Given the description of an element on the screen output the (x, y) to click on. 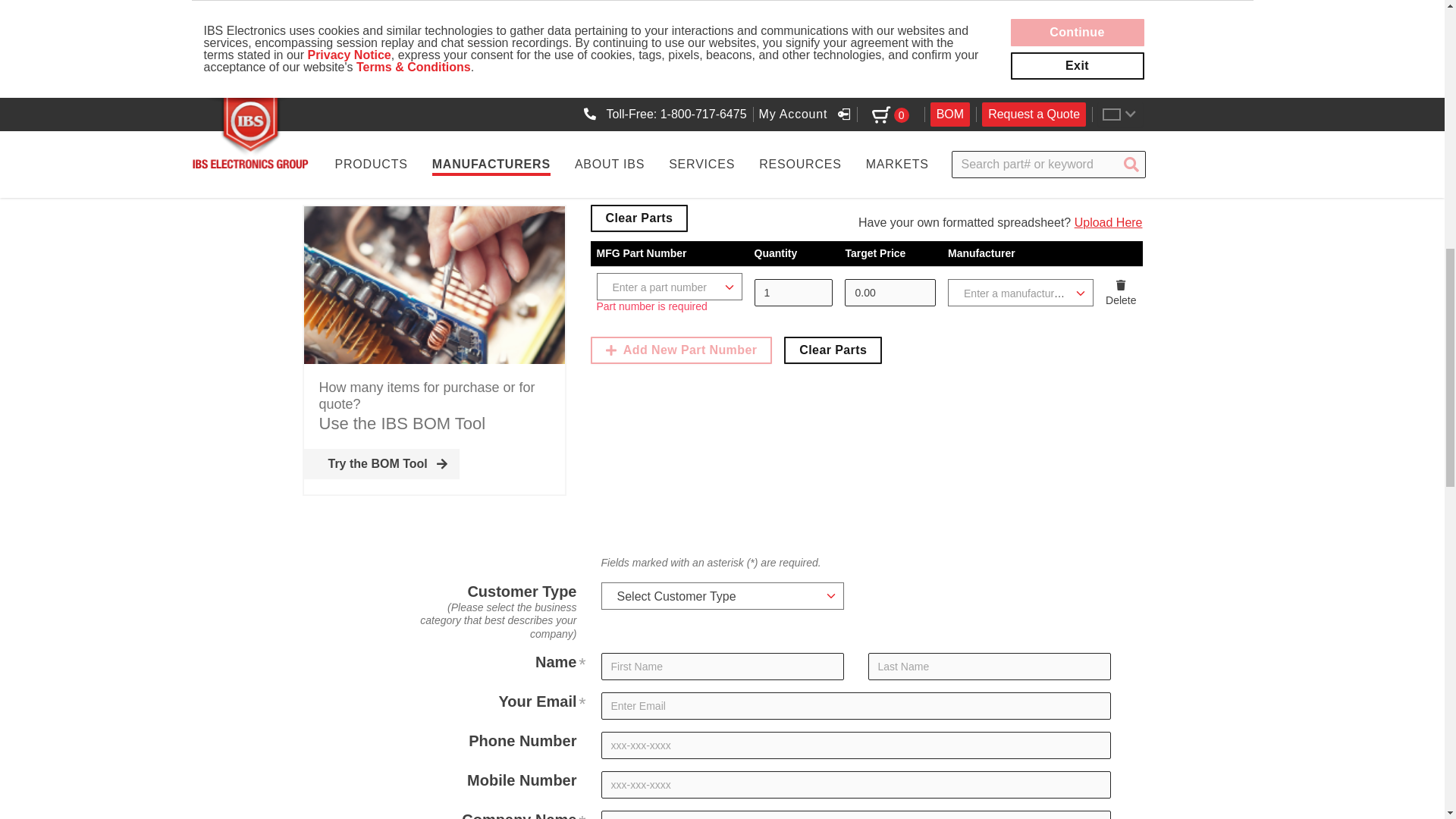
0.00 (890, 292)
1 (793, 292)
